Given the description of an element on the screen output the (x, y) to click on. 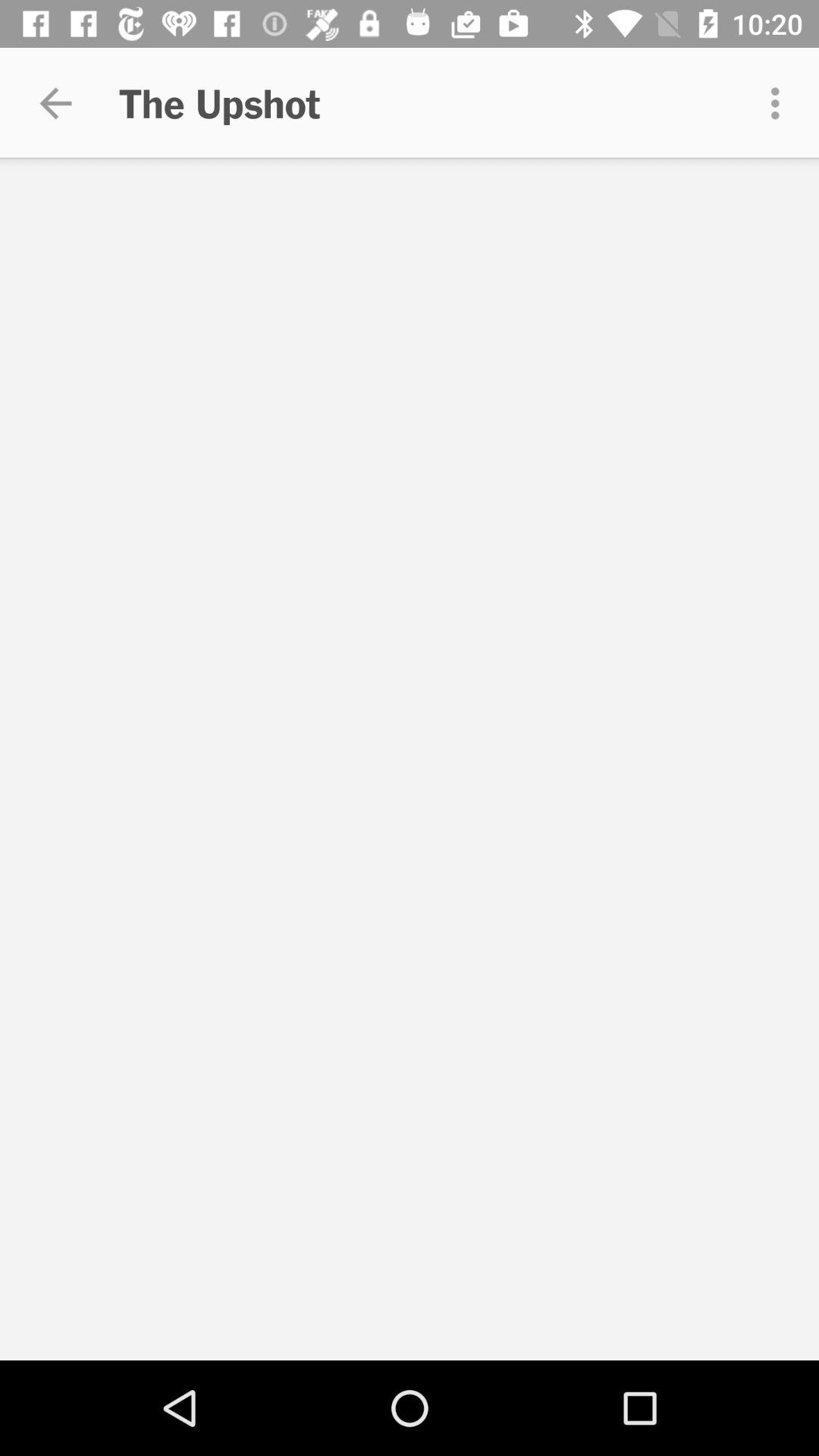
tap the icon at the top right corner (779, 103)
